Given the description of an element on the screen output the (x, y) to click on. 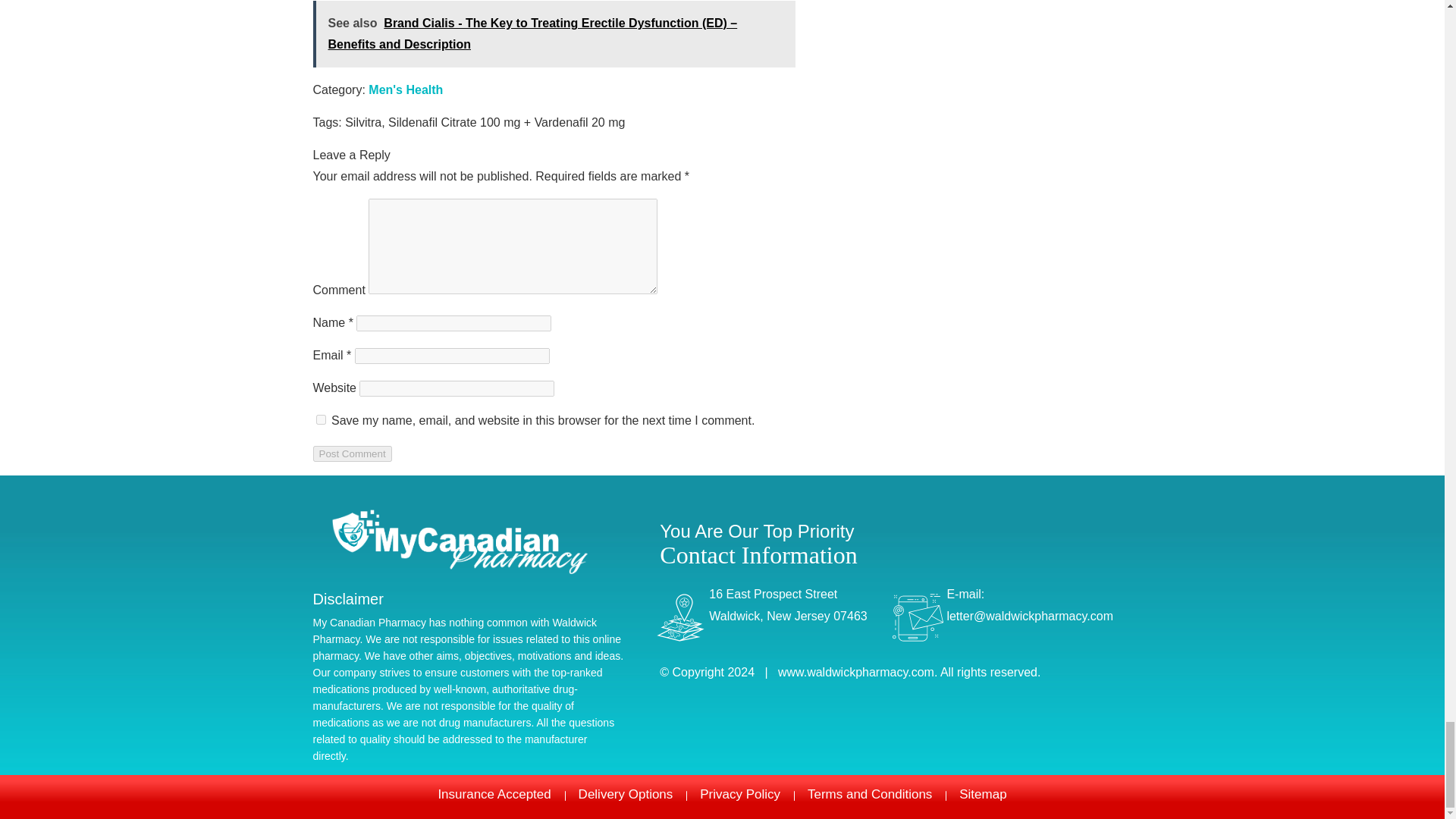
Post Comment (352, 453)
Post Comment (352, 453)
yes (319, 419)
Men's Health (405, 89)
